Given the description of an element on the screen output the (x, y) to click on. 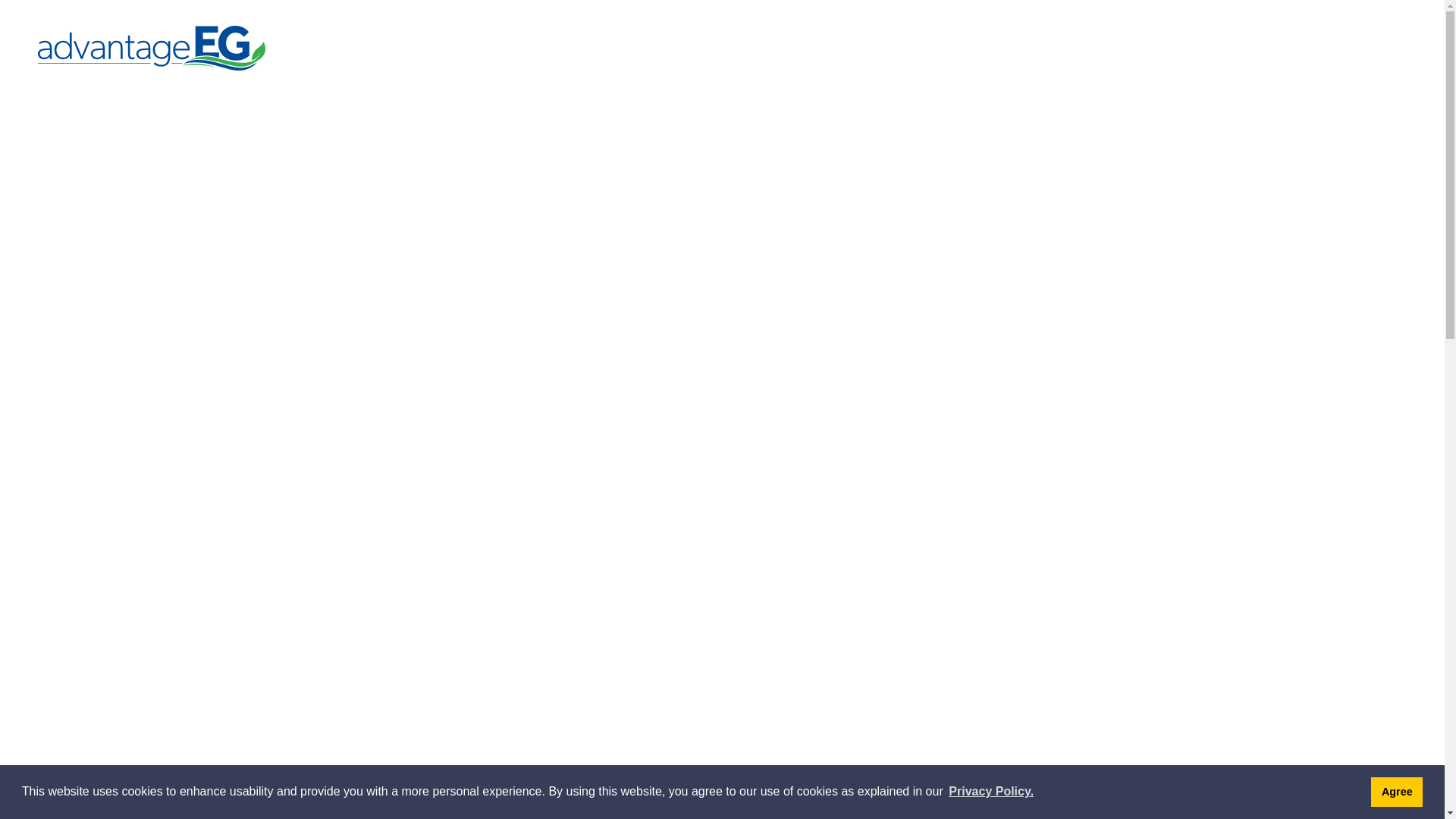
Agree Element type: text (1396, 791)
Privacy Policy. Element type: text (990, 791)
Click to return to the homepage Element type: hover (157, 47)
Skip to Content Element type: text (0, 0)
